Given the description of an element on the screen output the (x, y) to click on. 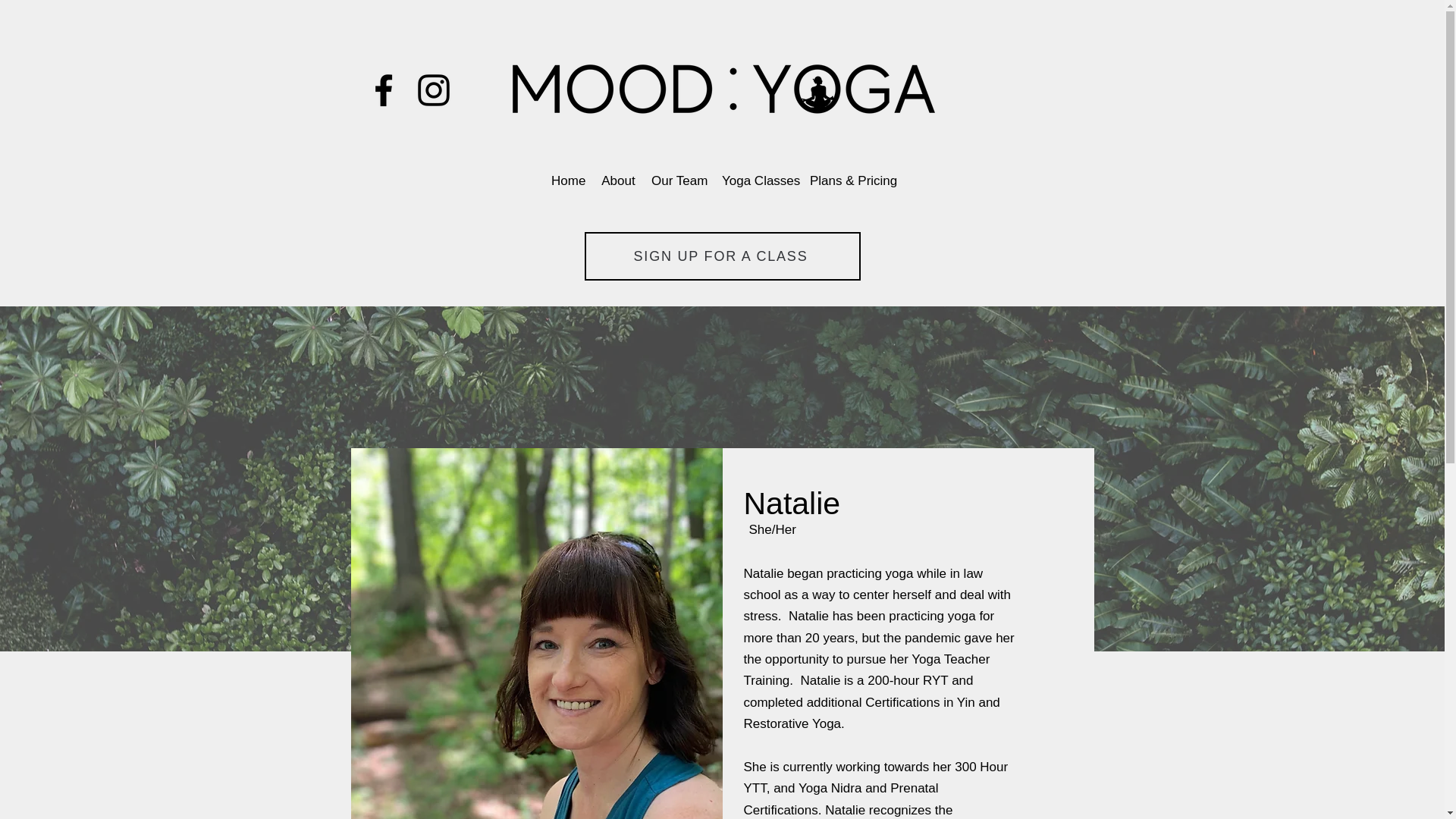
About (617, 180)
SIGN UP FOR A CLASS (721, 255)
Home (567, 180)
Our Team (678, 180)
Yoga Classes (758, 180)
